Given the description of an element on the screen output the (x, y) to click on. 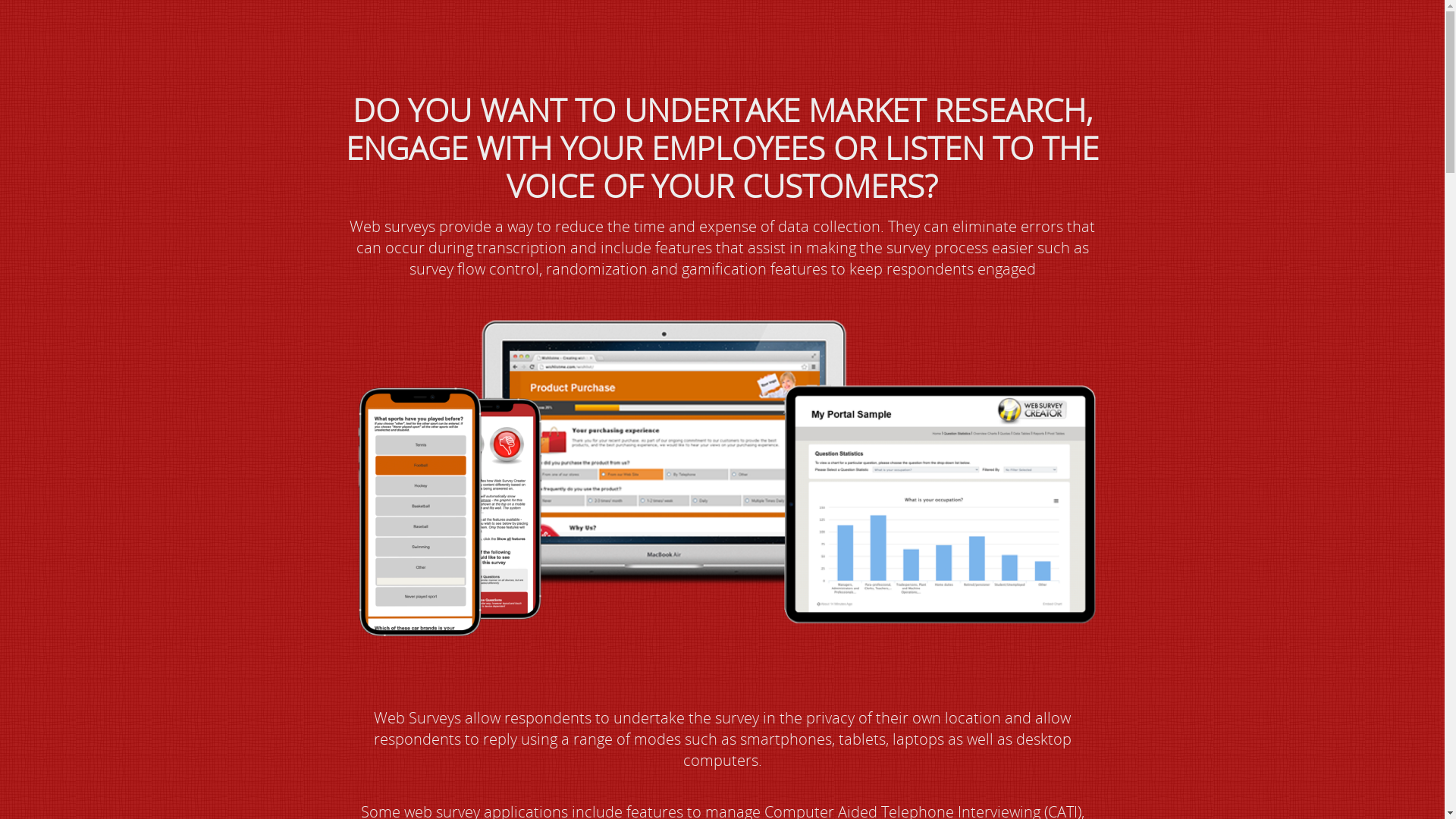
Tablet Element type: hover (721, 492)
